Given the description of an element on the screen output the (x, y) to click on. 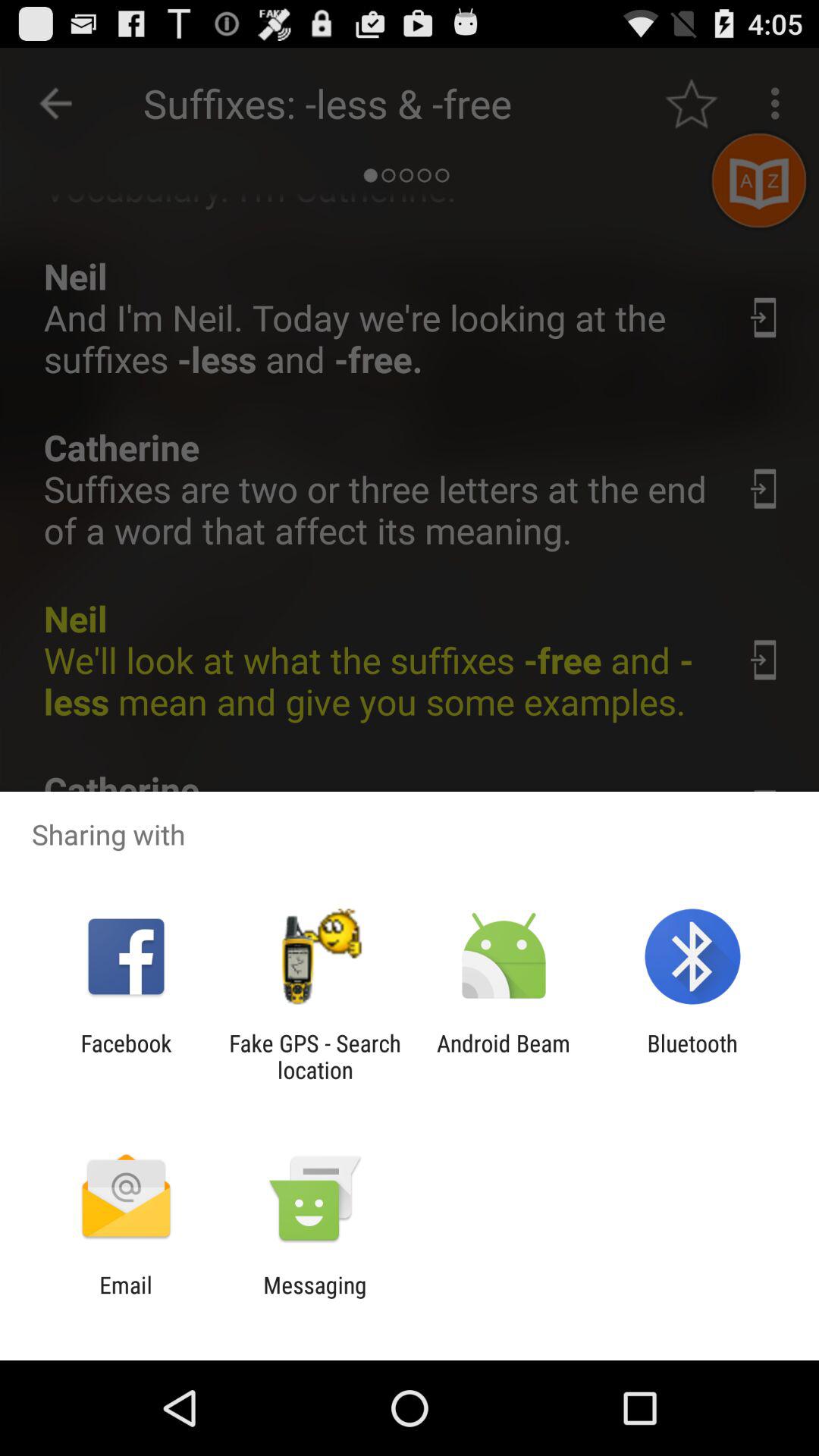
click icon next to the fake gps search app (503, 1056)
